Given the description of an element on the screen output the (x, y) to click on. 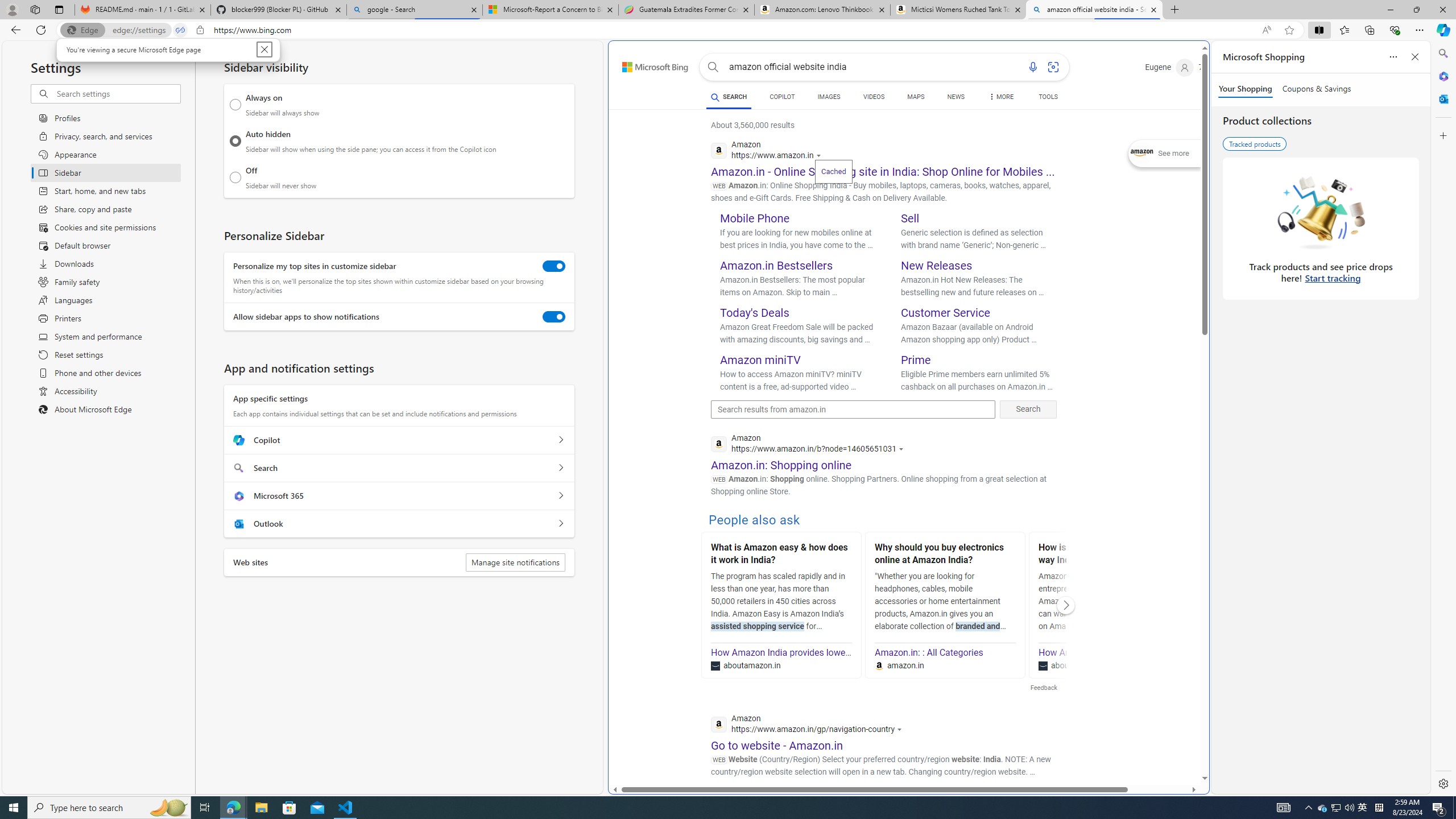
What is Amazon easy & how does it work in India? (780, 555)
SEARCH (728, 96)
Search settings (117, 93)
Go to website - Amazon.in (776, 745)
Search results from amazon.in (852, 409)
Search using voice (1032, 66)
